Given the description of an element on the screen output the (x, y) to click on. 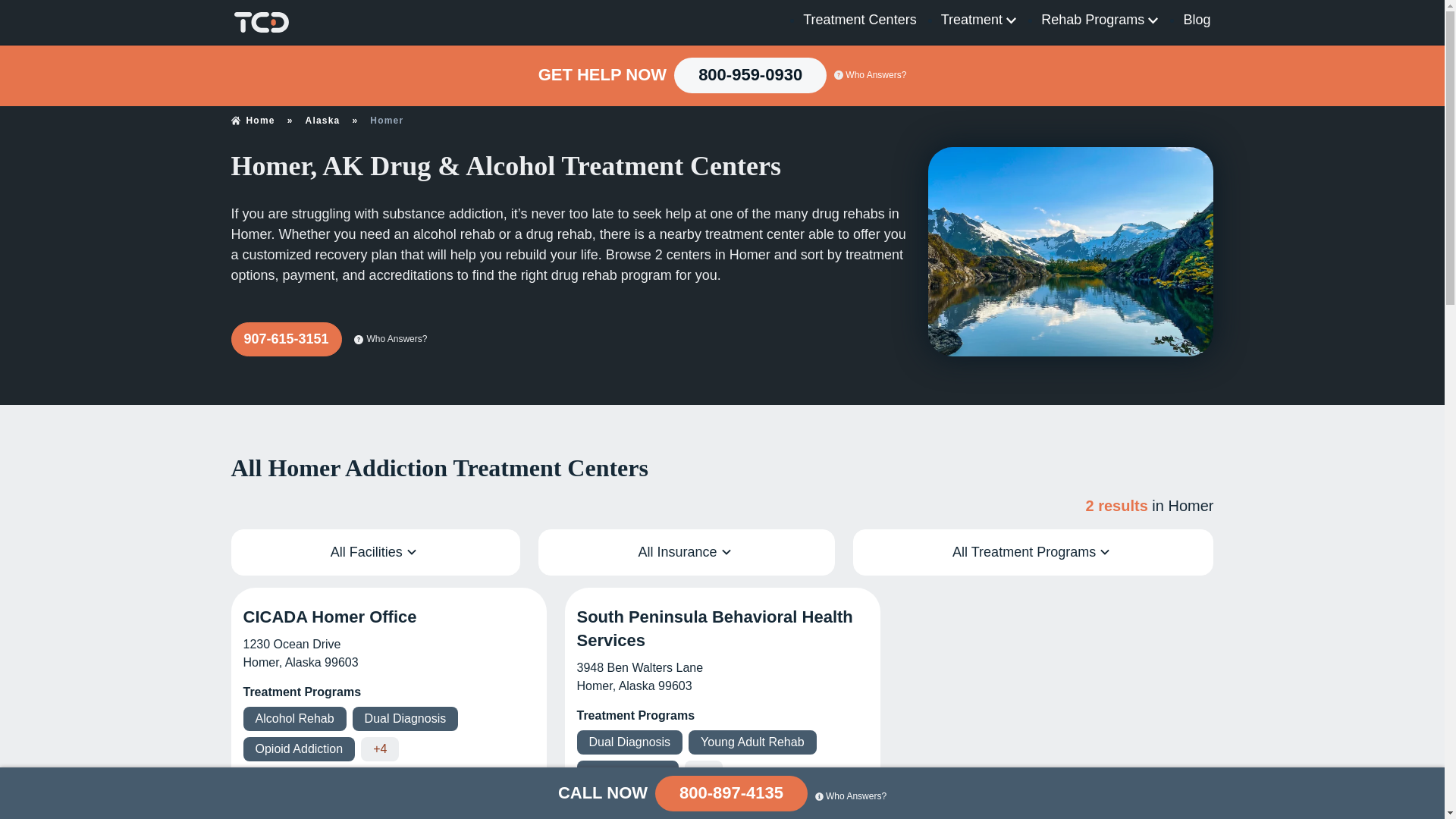
Blog (1195, 19)
Rehab Programs (1099, 20)
Treatment Centers (859, 19)
Treatment (978, 20)
